Given the description of an element on the screen output the (x, y) to click on. 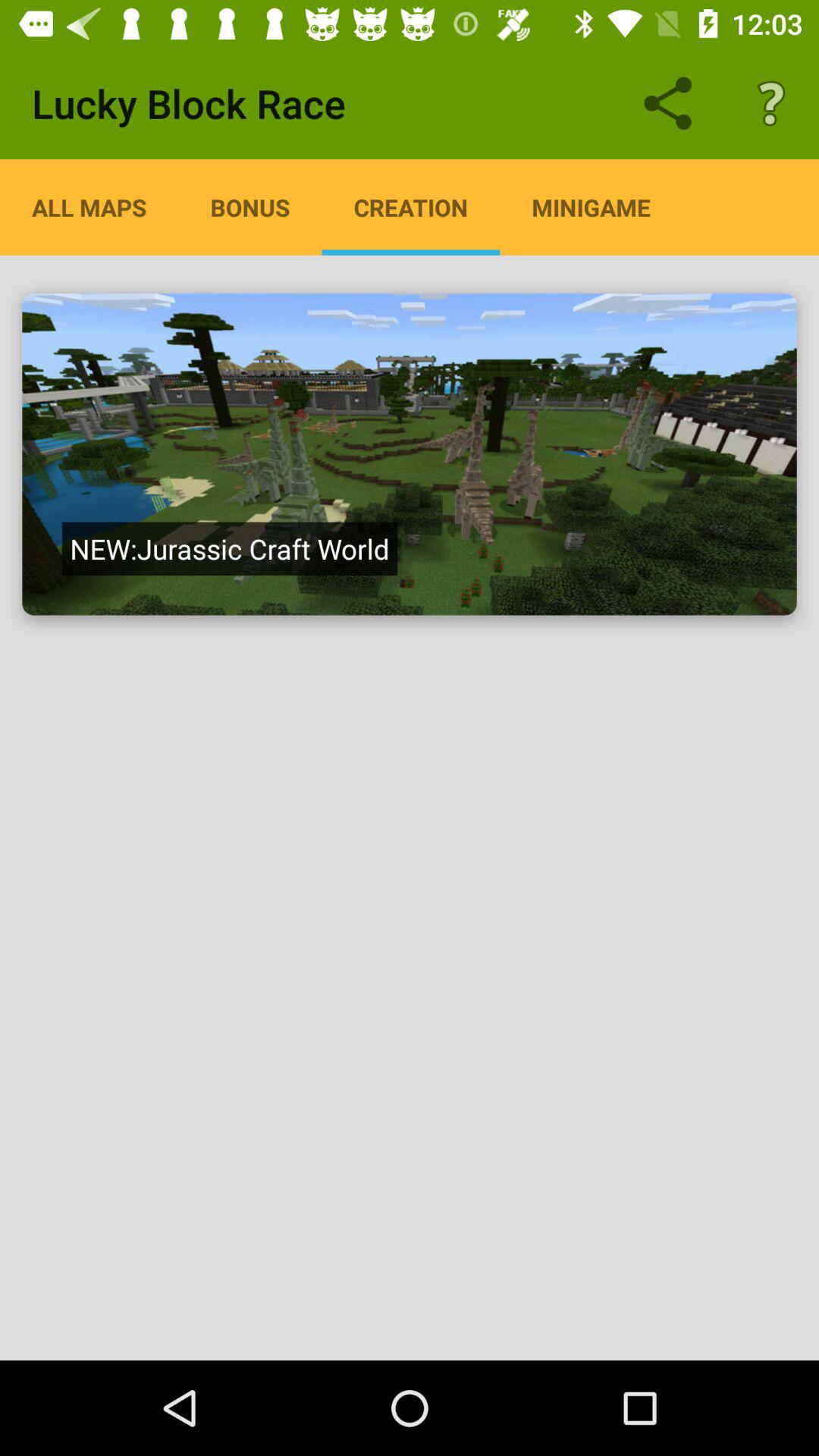
select app next to bonus icon (410, 207)
